Given the description of an element on the screen output the (x, y) to click on. 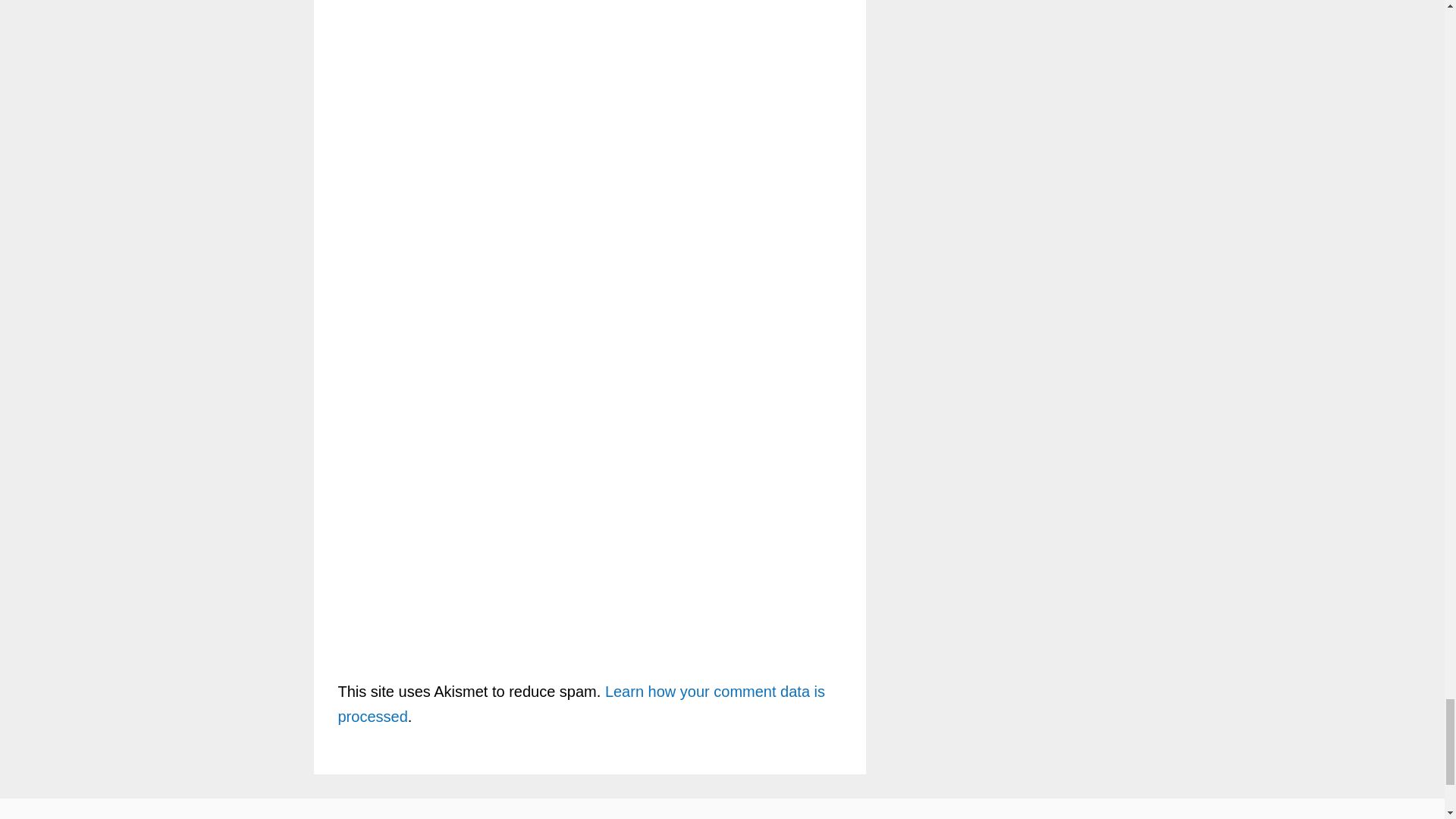
Learn how your comment data is processed (581, 703)
